Given the description of an element on the screen output the (x, y) to click on. 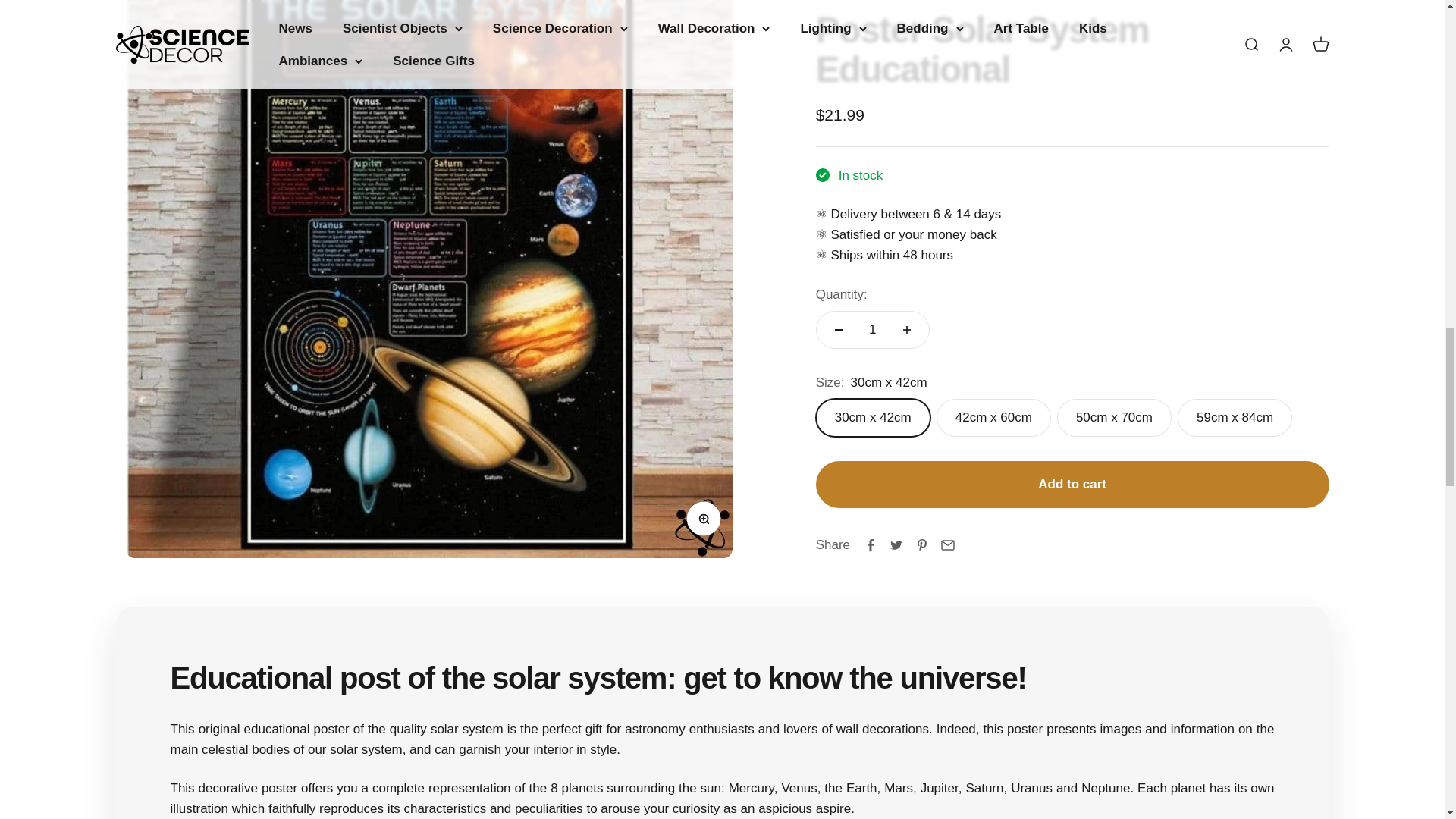
1 (872, 270)
